Given the description of an element on the screen output the (x, y) to click on. 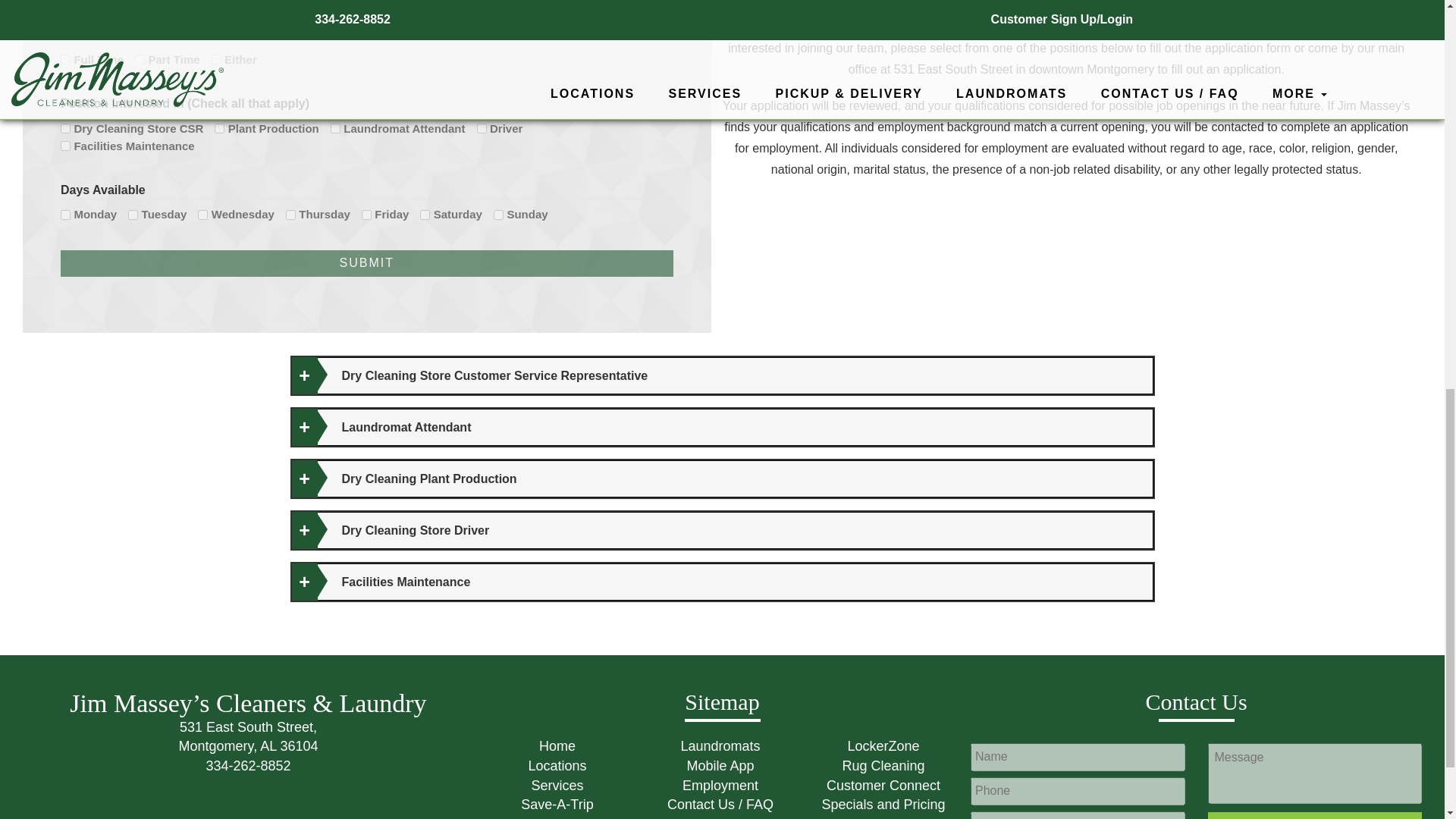
334-262-8852 (247, 765)
Driver (247, 736)
Plant Production (481, 128)
Tuesday (219, 128)
Monday (133, 214)
Friday (65, 214)
Full Time (366, 214)
Part Time (65, 59)
Submit (139, 59)
Either (366, 263)
Facilities Maintenance (216, 59)
Thursday (65, 145)
Dry Cleaning Store CSR (290, 214)
Wednesday (65, 128)
